Given the description of an element on the screen output the (x, y) to click on. 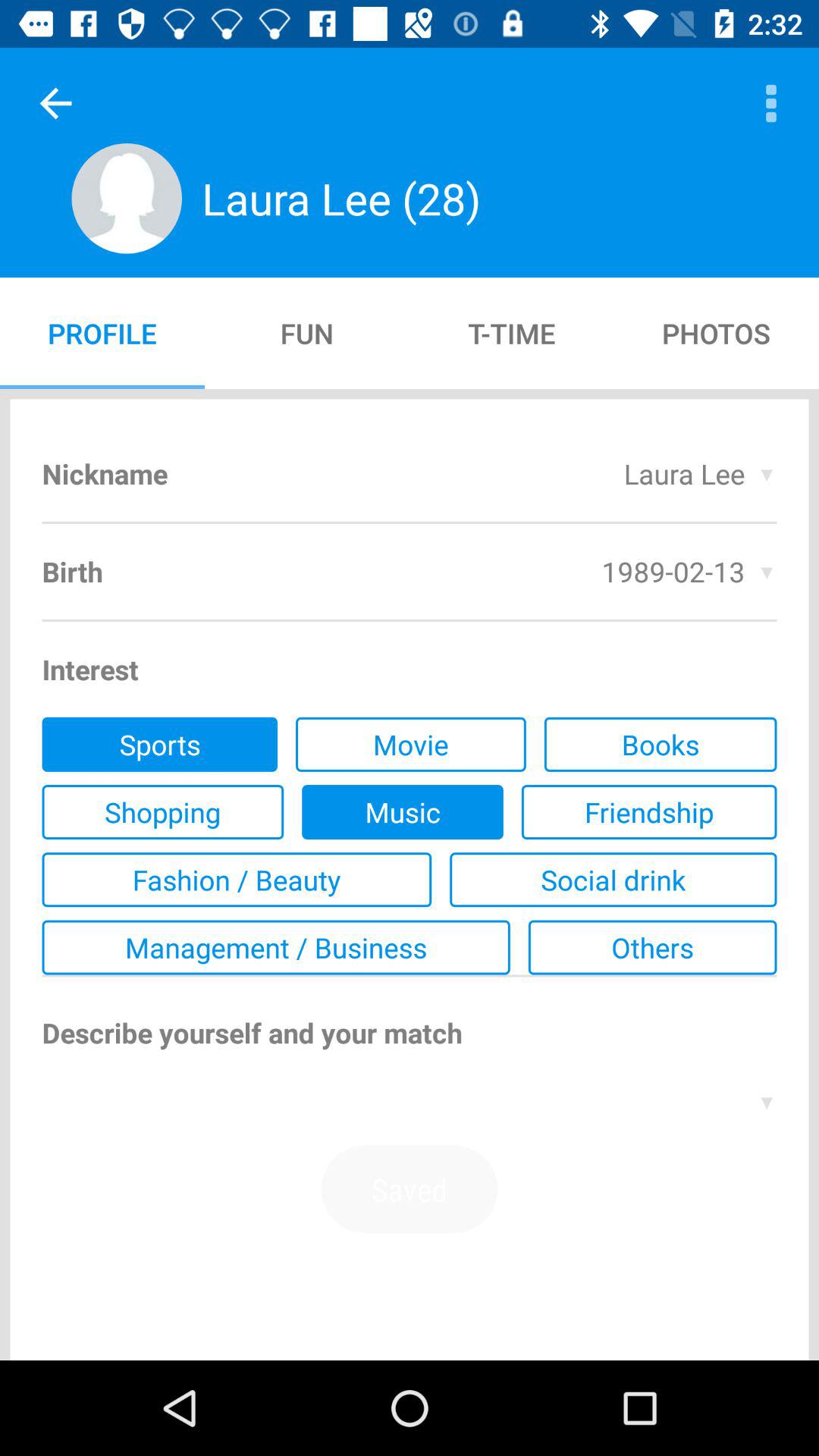
launch the music item (402, 811)
